Given the description of an element on the screen output the (x, y) to click on. 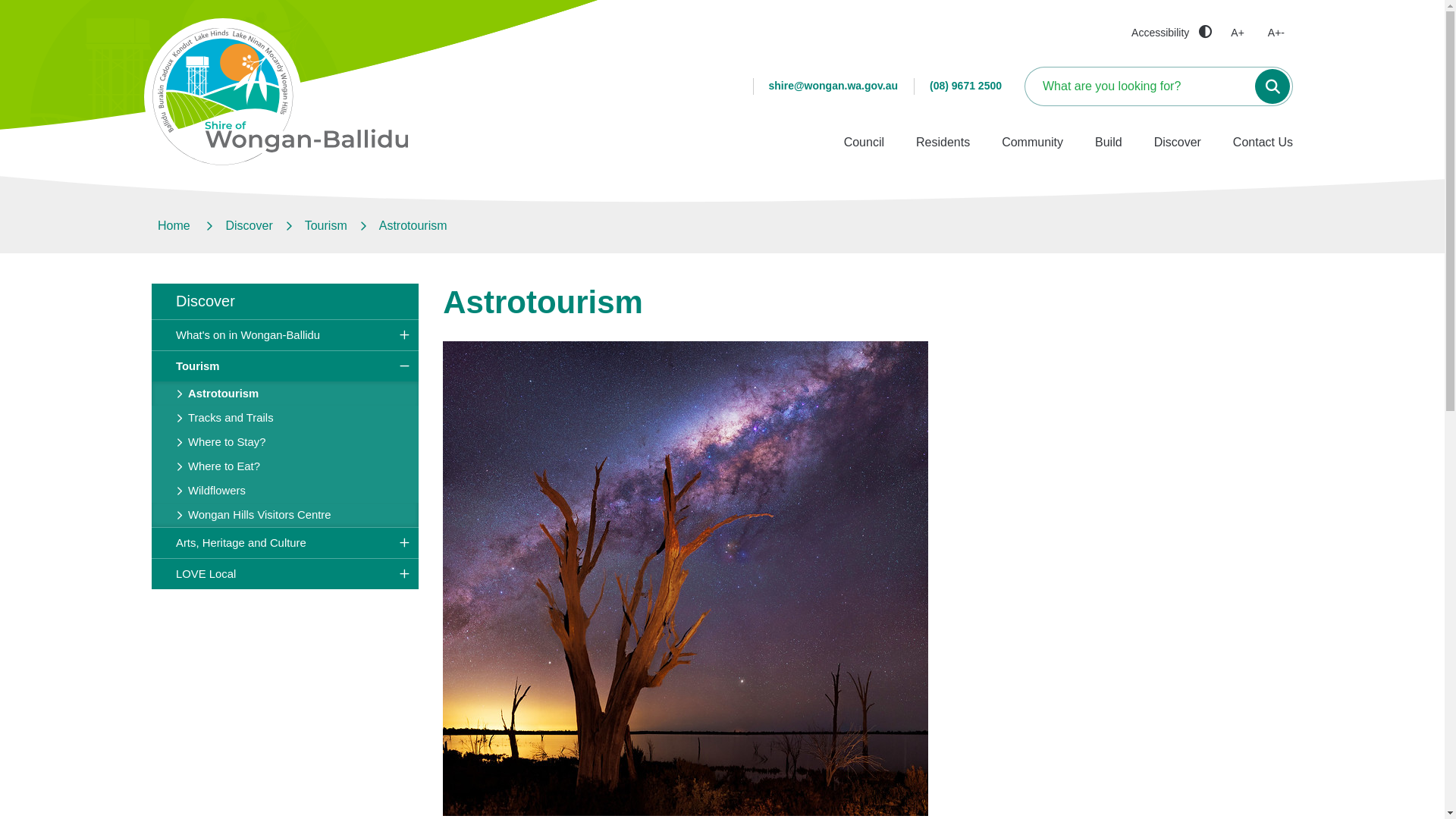
(08) 9671 2500 Element type: text (965, 85)
Astrotourism Element type: text (413, 225)
Wildflowers Element type: text (284, 490)
Discover Element type: text (1177, 142)
Text decrease
A+ Element type: text (1238, 32)
LOVE Local Element type: text (284, 573)
Where to Stay? Element type: text (284, 441)
shire@wongan.wa.gov.au Element type: text (833, 85)
Wongan Hills Visitors Centre Element type: text (284, 514)
Tourism Element type: text (325, 225)
Arts, Heritage and Culture Element type: text (284, 542)
Community Element type: text (1032, 142)
Tracks and Trails Element type: text (284, 417)
Build Element type: text (1108, 142)
Astrotourism Element type: text (284, 393)
Council Element type: text (864, 142)
Discover Element type: text (284, 301)
Residents Element type: text (942, 142)
Where to Eat? Element type: text (284, 466)
Home Element type: text (175, 225)
Tourism Element type: text (284, 366)
Text decrease
A+- Element type: text (1277, 32)
Contact Us Element type: text (1262, 142)
Discover Element type: text (248, 225)
What's on in Wongan-Ballidu Element type: text (284, 335)
